Given the description of an element on the screen output the (x, y) to click on. 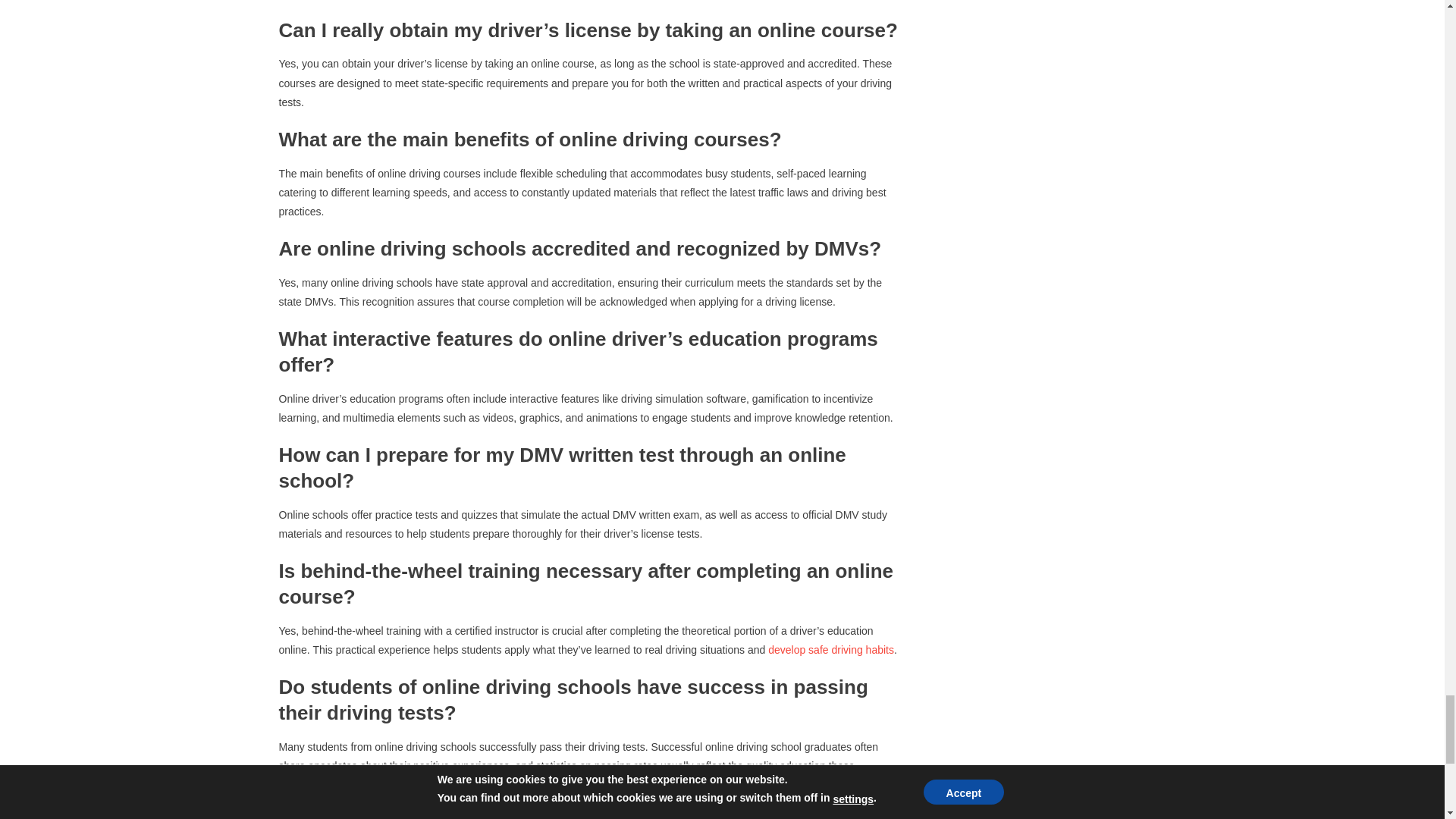
develop safe driving habits (830, 649)
